Given the description of an element on the screen output the (x, y) to click on. 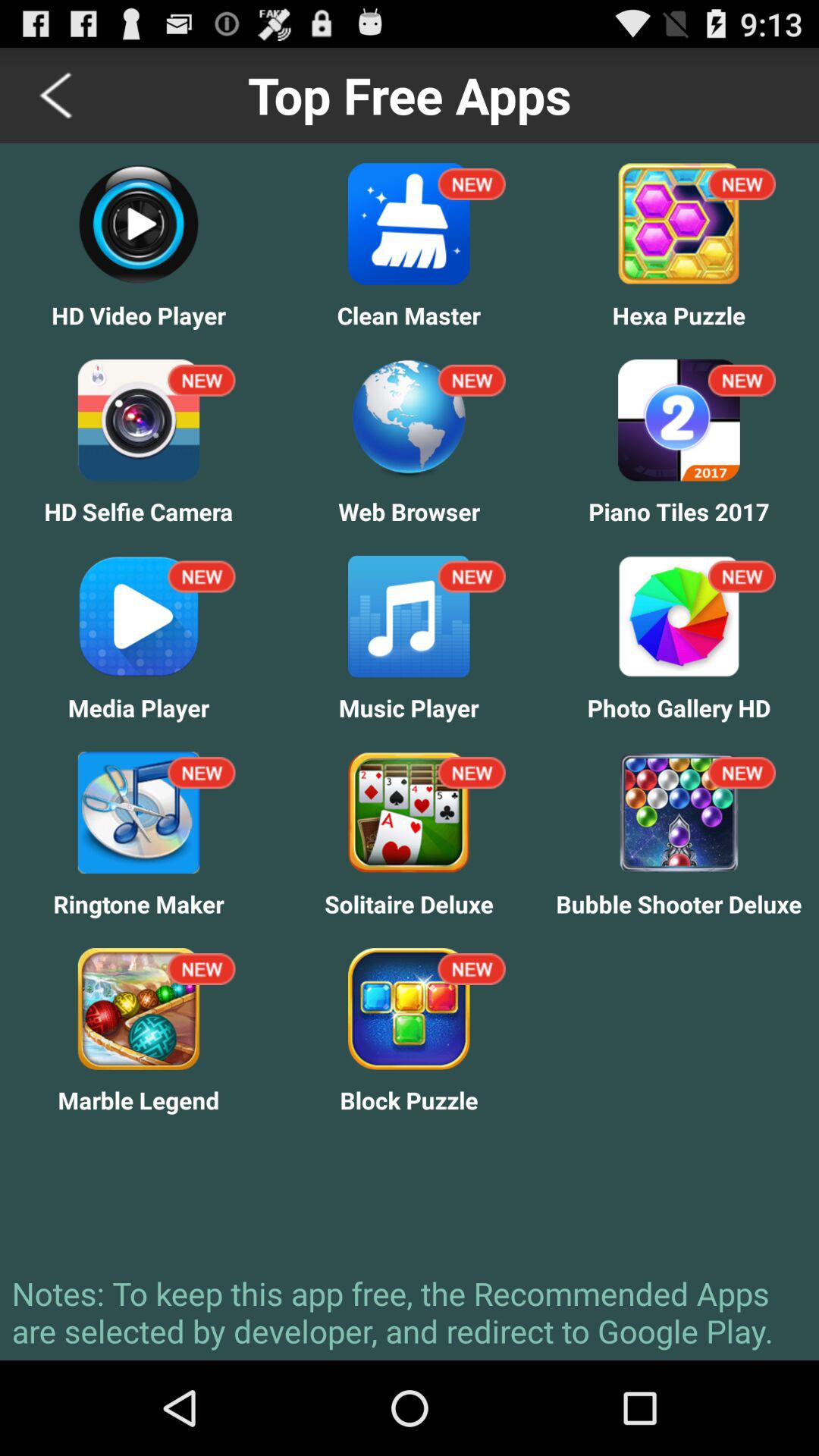
click on top row third option (741, 183)
select red button in fifth row first option (201, 968)
choose the last new from the image (471, 968)
select the fifth row of second image (408, 1008)
select the new which is above photo gallery hd image (741, 576)
